Given the description of an element on the screen output the (x, y) to click on. 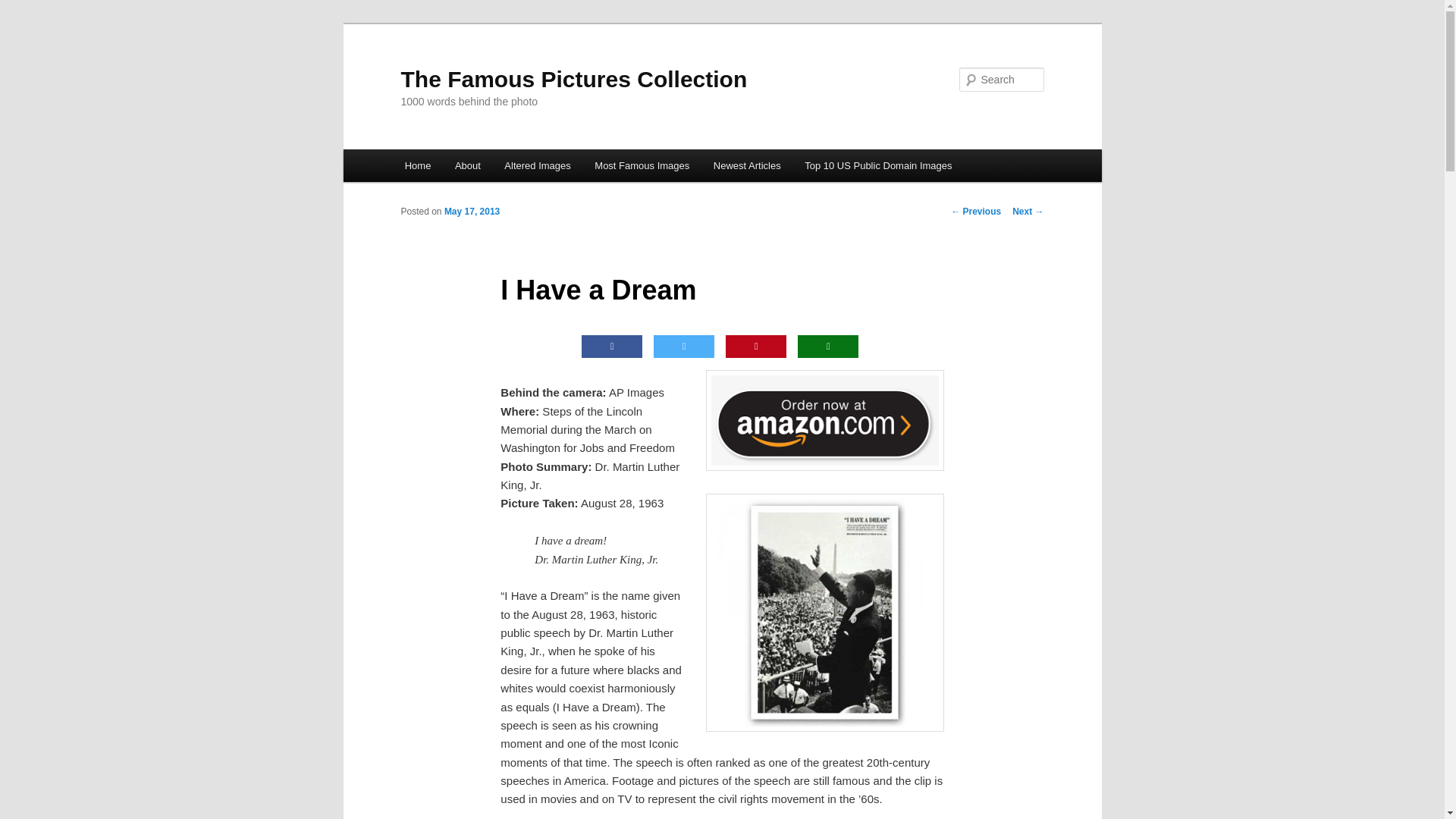
The Famous Pictures Collection (573, 78)
3:56 am (471, 211)
Home (417, 165)
Newest Articles (746, 165)
May 17, 2013 (471, 211)
About (467, 165)
Top 10 US Public Domain Images (877, 165)
Altered Images (538, 165)
Search (24, 8)
Most Famous Images (642, 165)
